Given the description of an element on the screen output the (x, y) to click on. 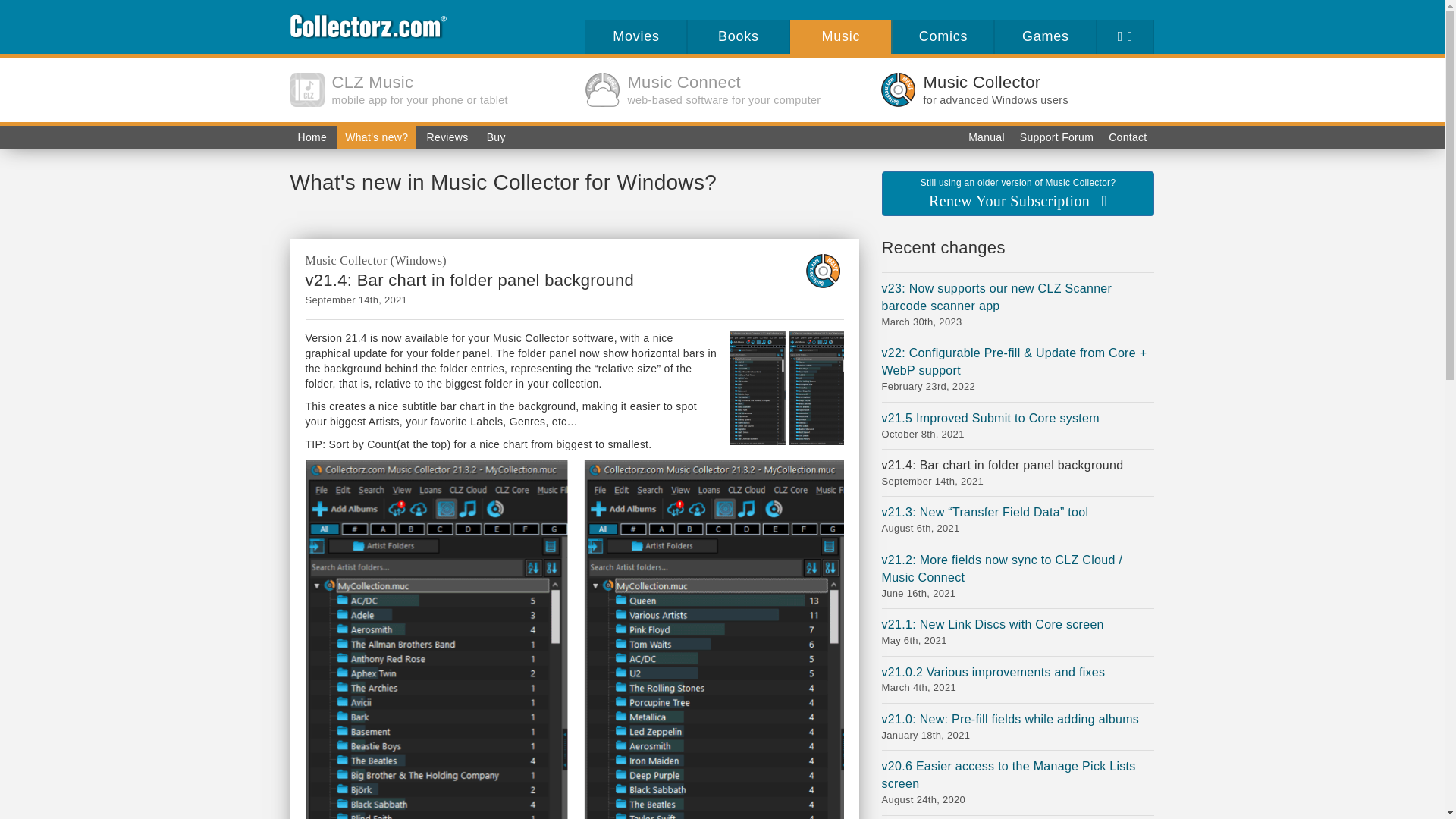
Support Forum (1055, 137)
v21.4: Bar chart in folder panel background (425, 89)
Comics (1017, 89)
Contact (468, 280)
Manual (942, 36)
Home (1127, 137)
